Given the description of an element on the screen output the (x, y) to click on. 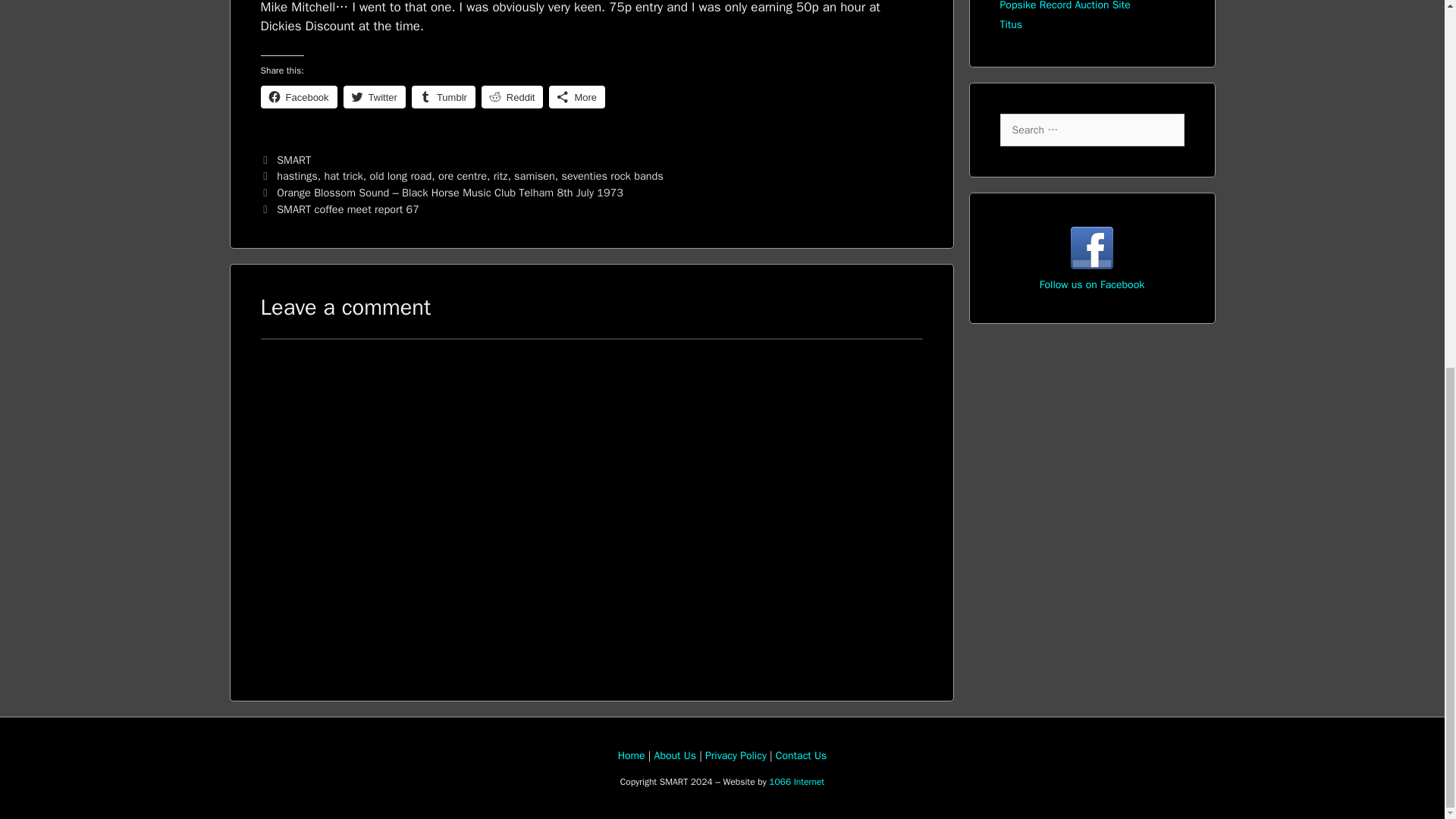
old long road (399, 175)
Facebook (298, 96)
Click to share on Facebook (298, 96)
Click to share on Reddit (512, 96)
Twitter (374, 96)
More (576, 96)
hastings (296, 175)
samisen (533, 175)
Click to share on Tumblr (444, 96)
